Given the description of an element on the screen output the (x, y) to click on. 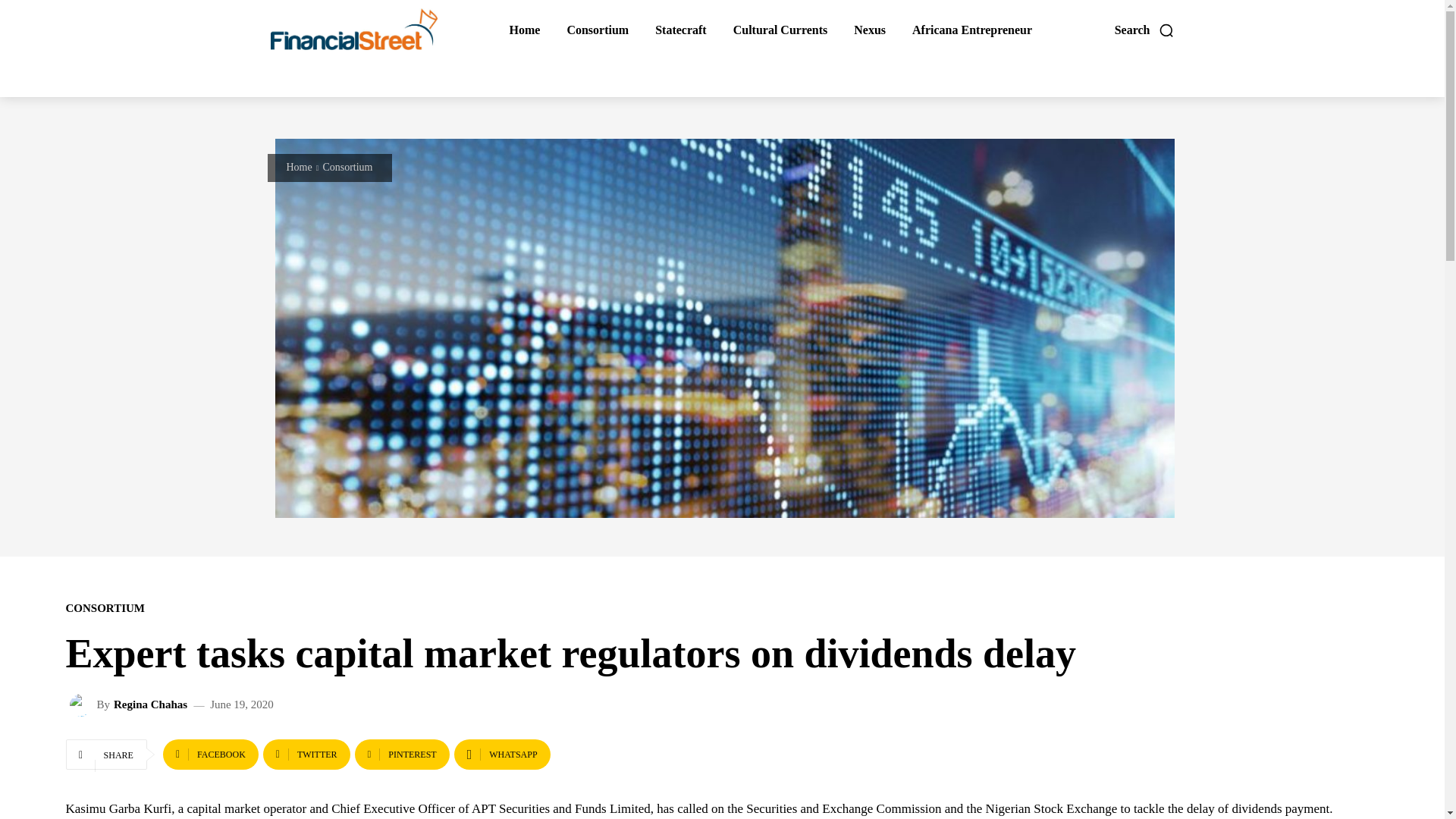
Pinterest (402, 754)
Home (299, 166)
Regina Chahas (83, 704)
WHATSAPP (502, 754)
View all posts in Consortium (346, 166)
Statecraft (680, 30)
CONSORTIUM (104, 608)
Consortium (596, 30)
TWITTER (306, 754)
Consortium (346, 166)
Regina Chahas (150, 704)
FACEBOOK (211, 754)
Search (1144, 30)
Twitter (306, 754)
Africana Entrepreneur (971, 30)
